Given the description of an element on the screen output the (x, y) to click on. 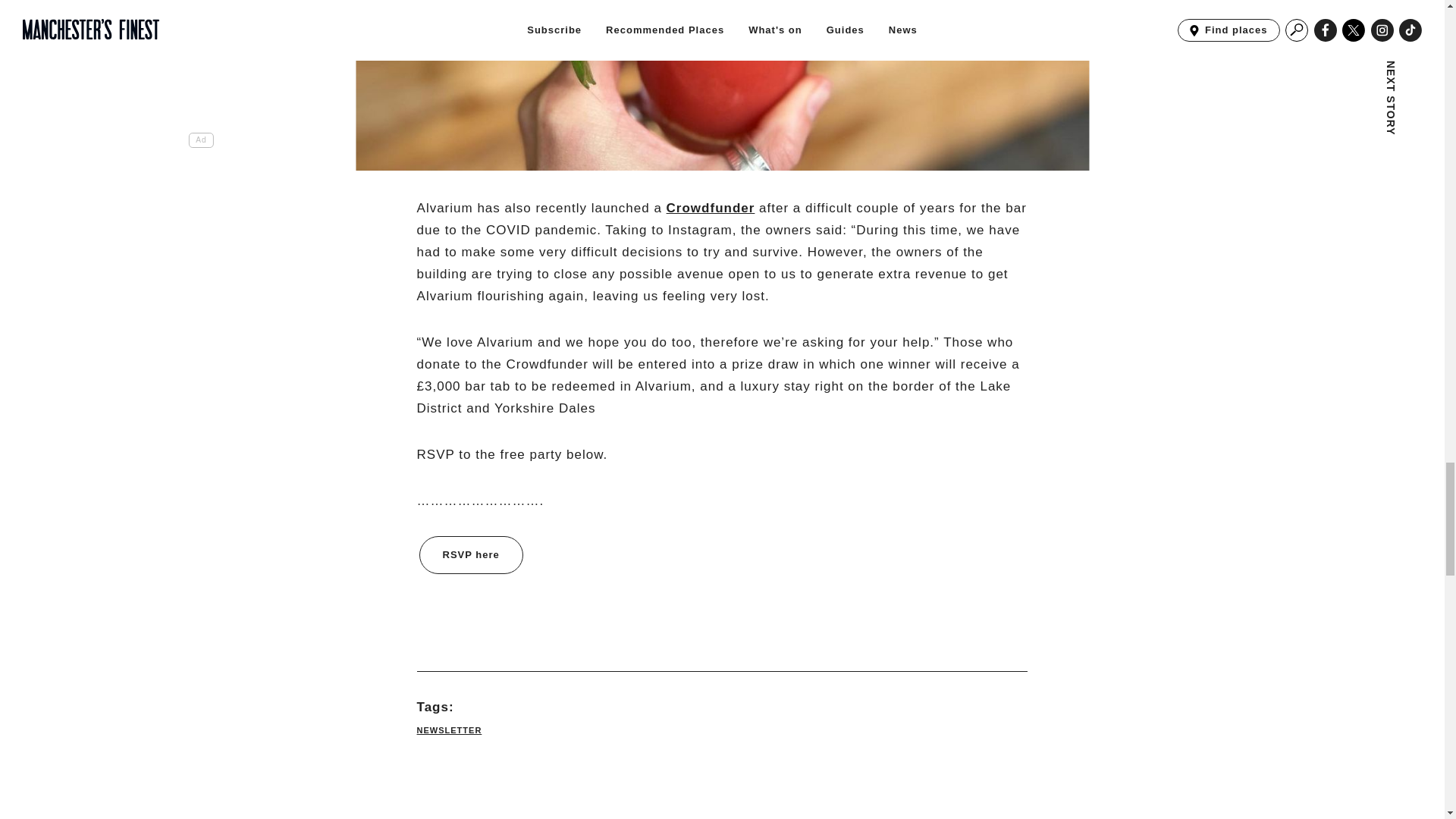
RSVP here (470, 555)
Crowdfunder (710, 207)
NEWSLETTER (448, 730)
